Given the description of an element on the screen output the (x, y) to click on. 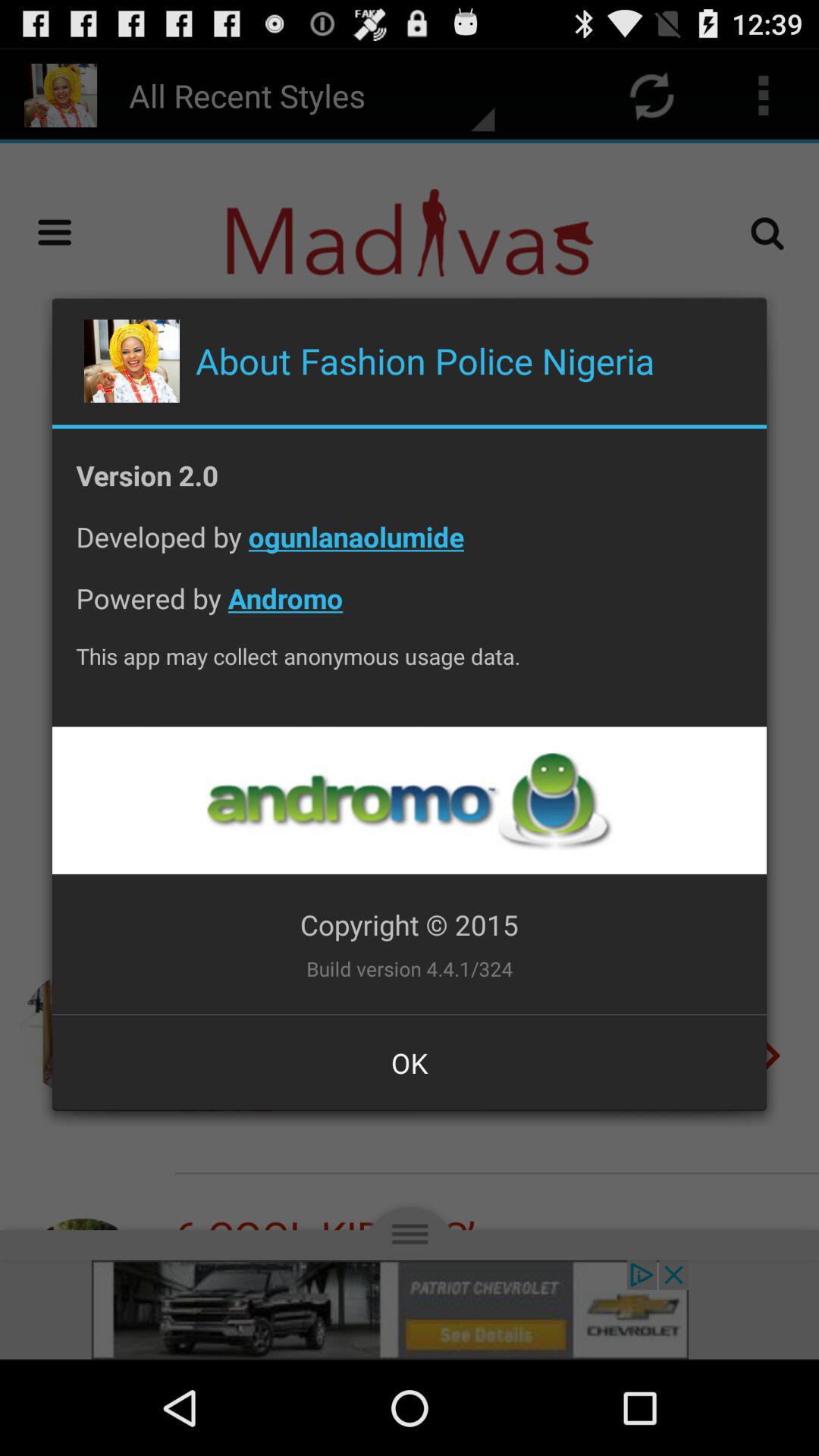
turn on the item below the build version 4 item (409, 1062)
